Given the description of an element on the screen output the (x, y) to click on. 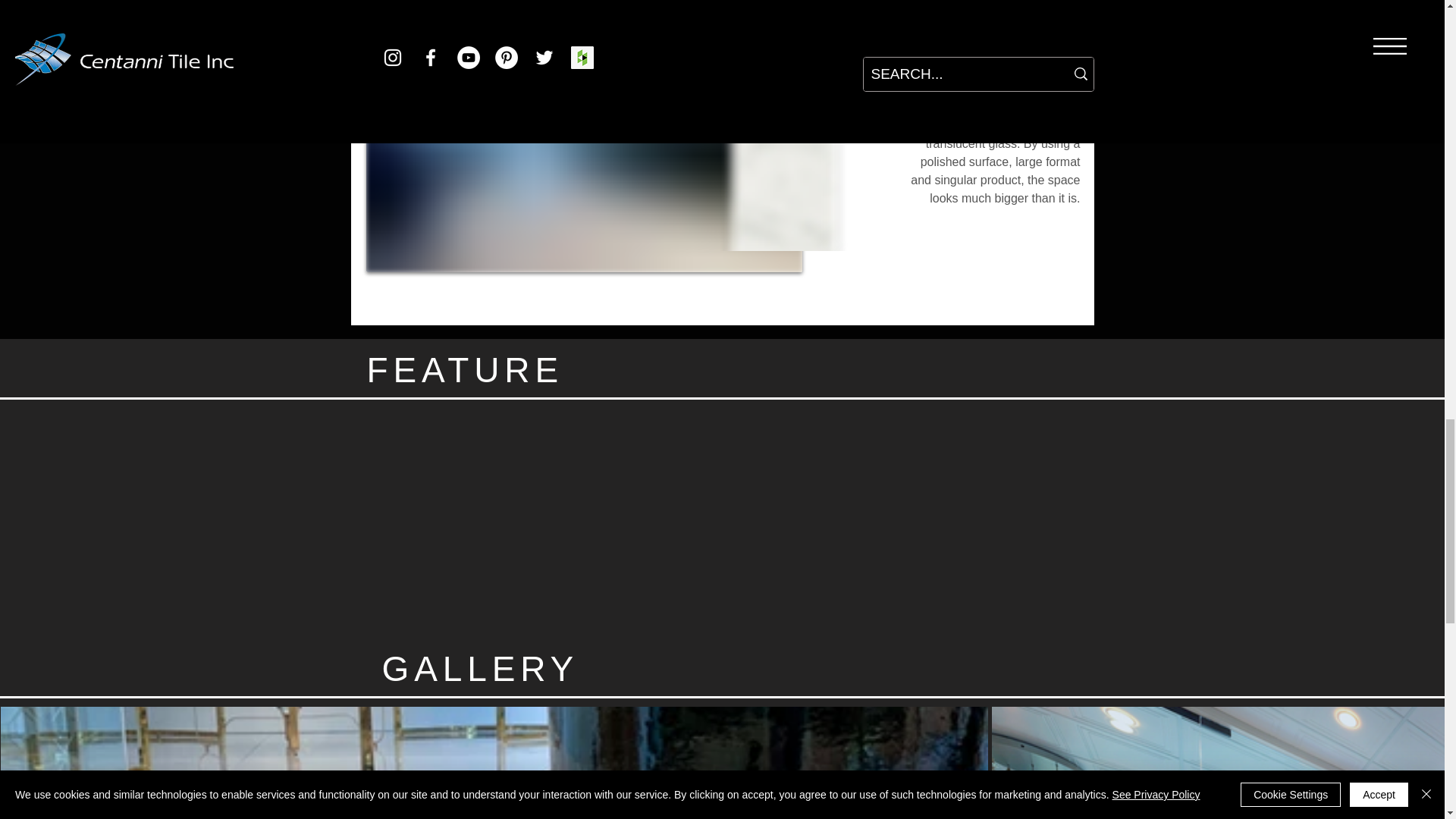
Ghost-Product.png (782, 147)
Entry-Pano-2.png (583, 140)
